Given the description of an element on the screen output the (x, y) to click on. 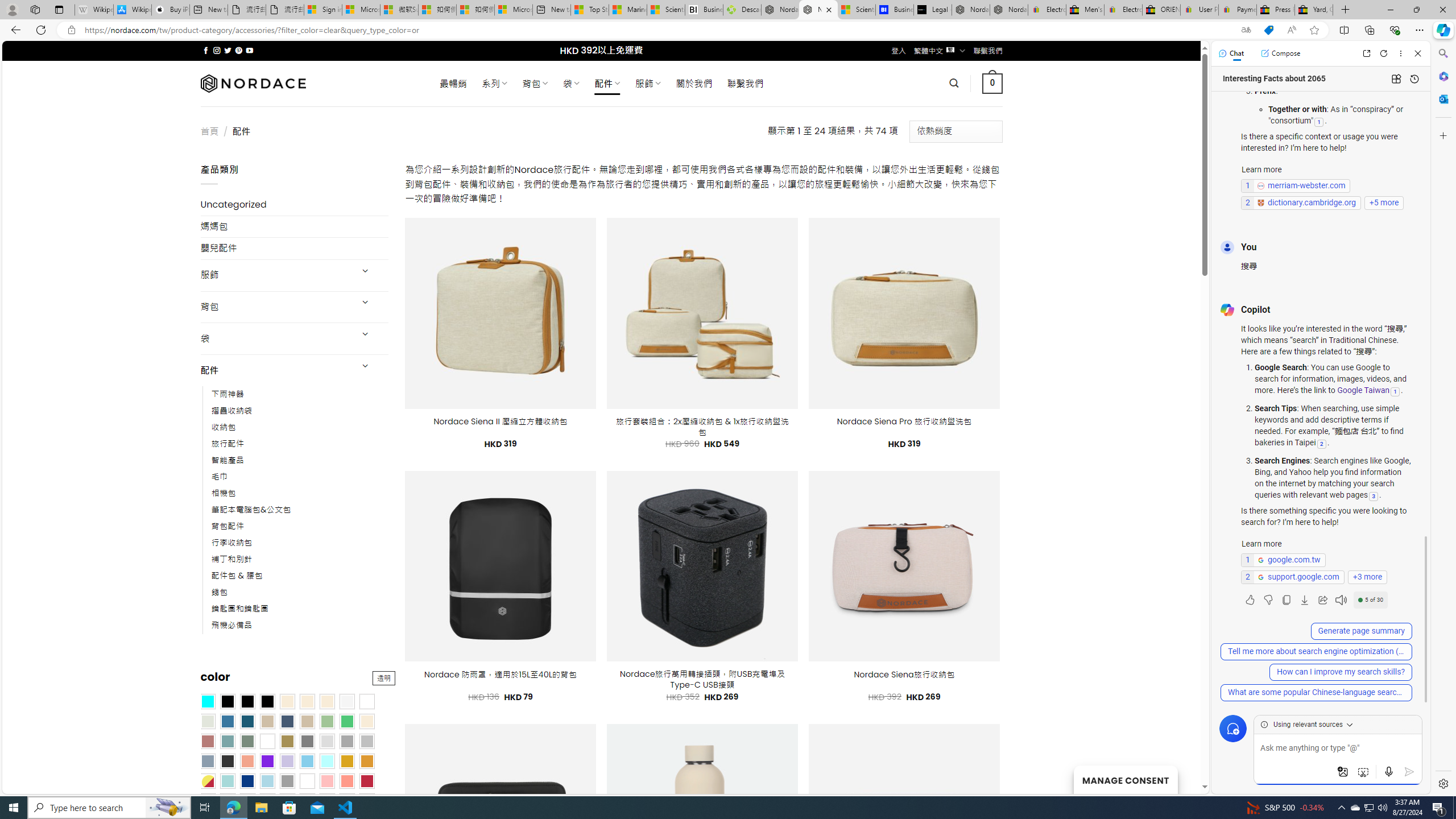
Cream (327, 701)
User Privacy Notice | eBay (1198, 9)
Follow on Pinterest (237, 50)
Chat (1231, 52)
Yard, Garden & Outdoor Living (1314, 9)
